Given the description of an element on the screen output the (x, y) to click on. 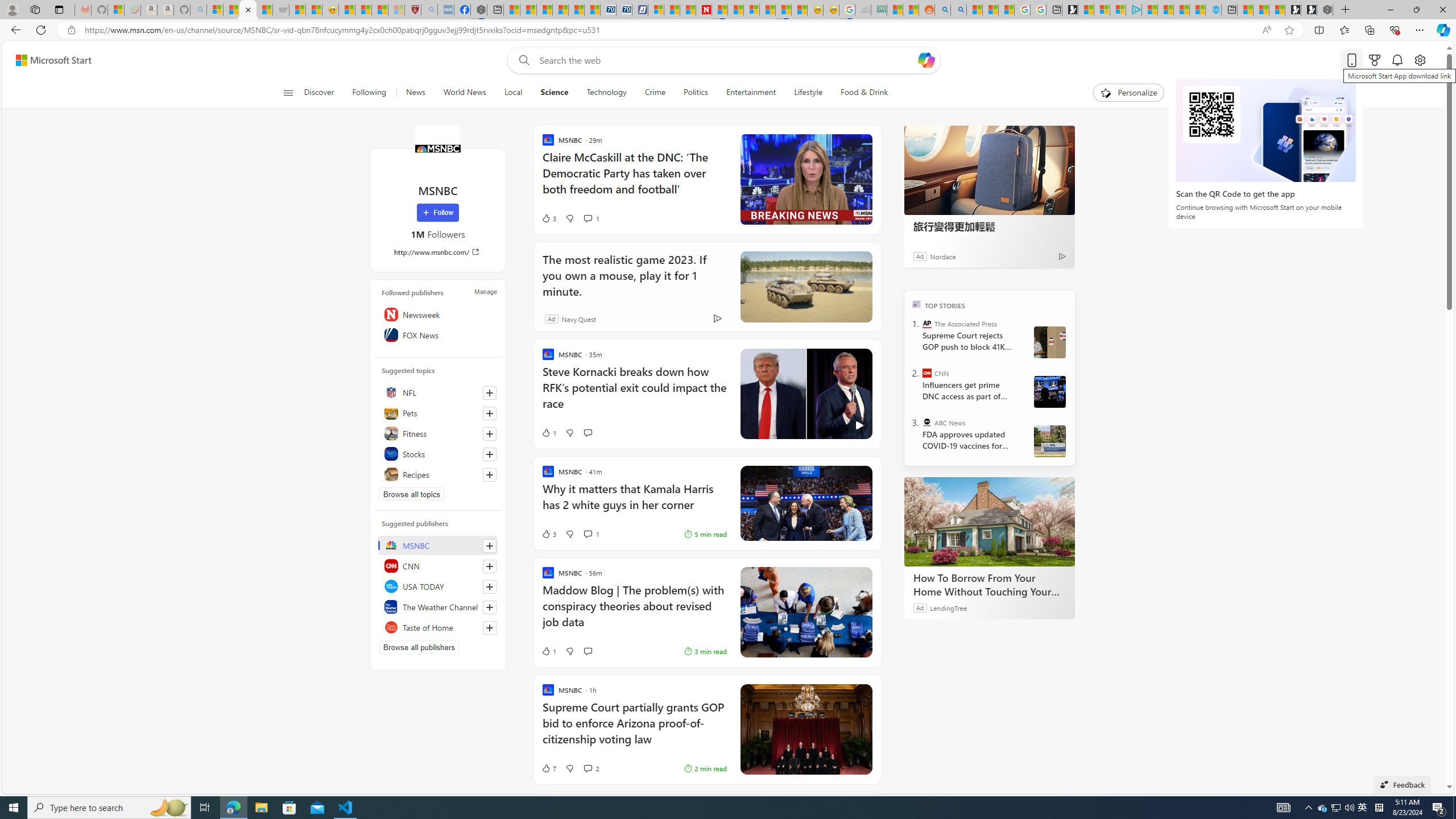
7 Like (547, 768)
Class: button-glyph (287, 92)
CNN (437, 565)
Follow this topic (489, 474)
Recipes - MSN (346, 9)
